Given the description of an element on the screen output the (x, y) to click on. 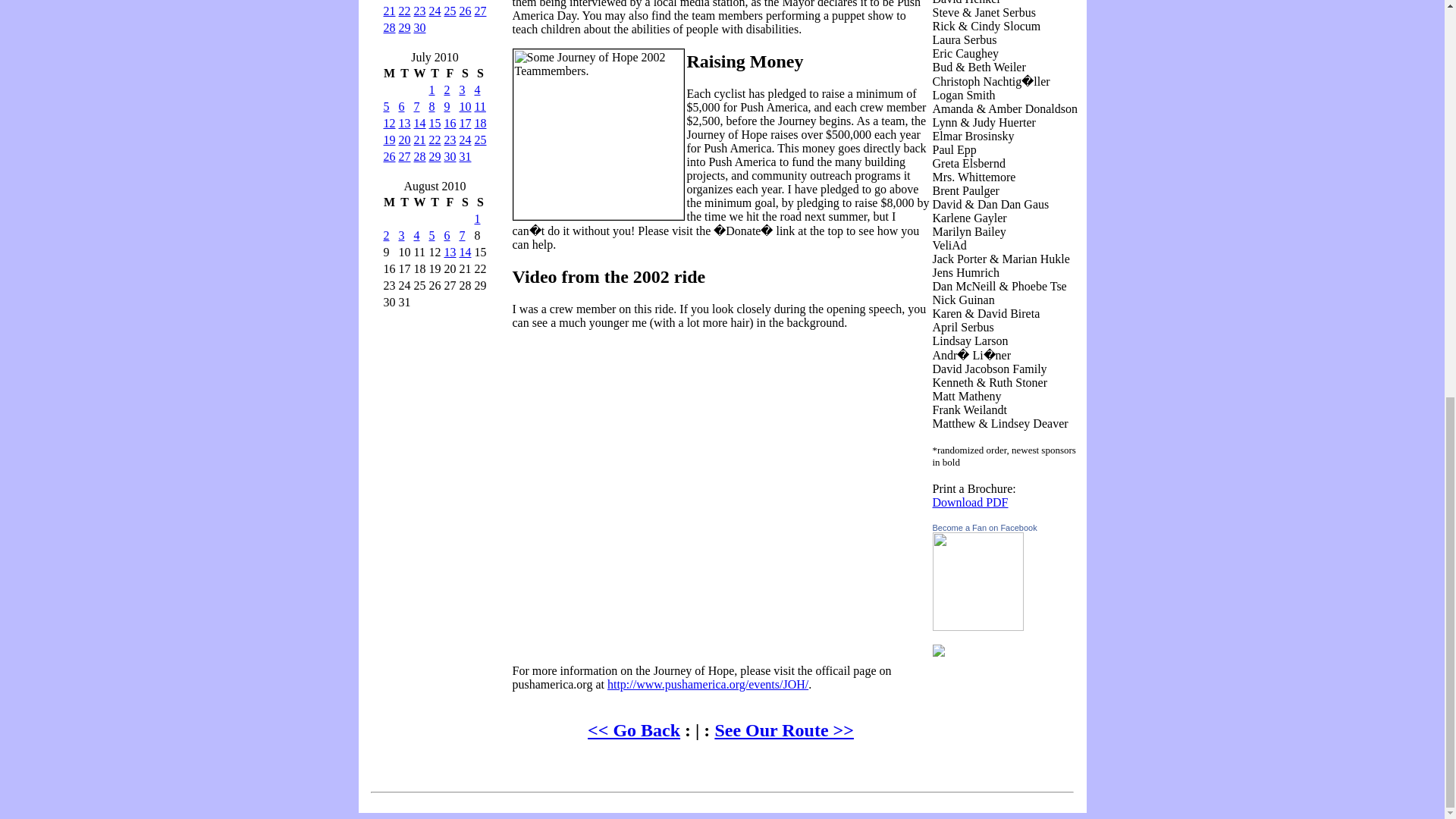
26 (465, 10)
23 (419, 10)
28 (390, 27)
24 (435, 10)
27 (480, 10)
